Given the description of an element on the screen output the (x, y) to click on. 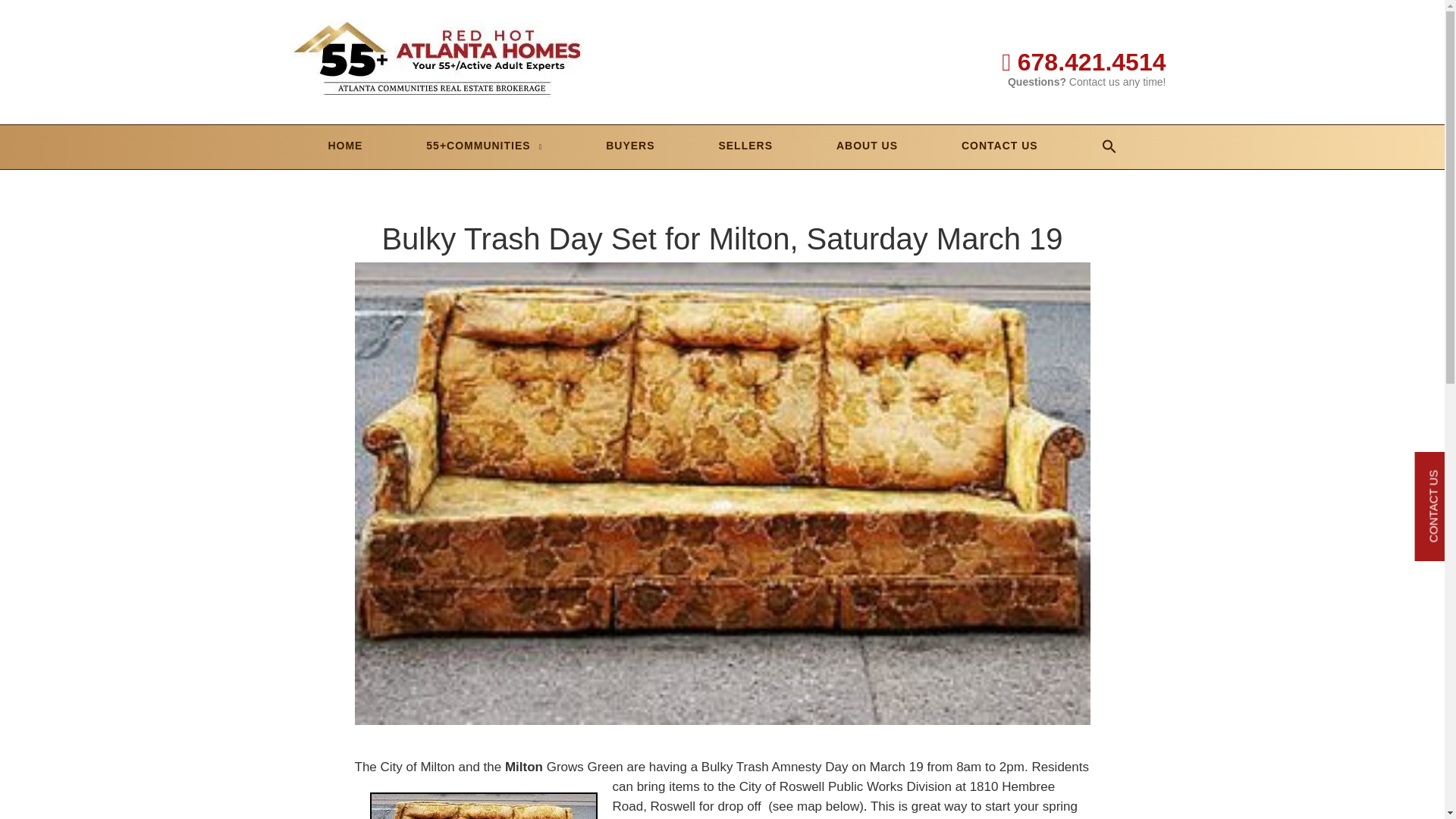
CONTACT US (999, 146)
BUYERS (629, 146)
Send (722, 808)
bulky-trash-day-milton-ga (482, 805)
SELLERS (745, 146)
ABOUT US (866, 146)
